Given the description of an element on the screen output the (x, y) to click on. 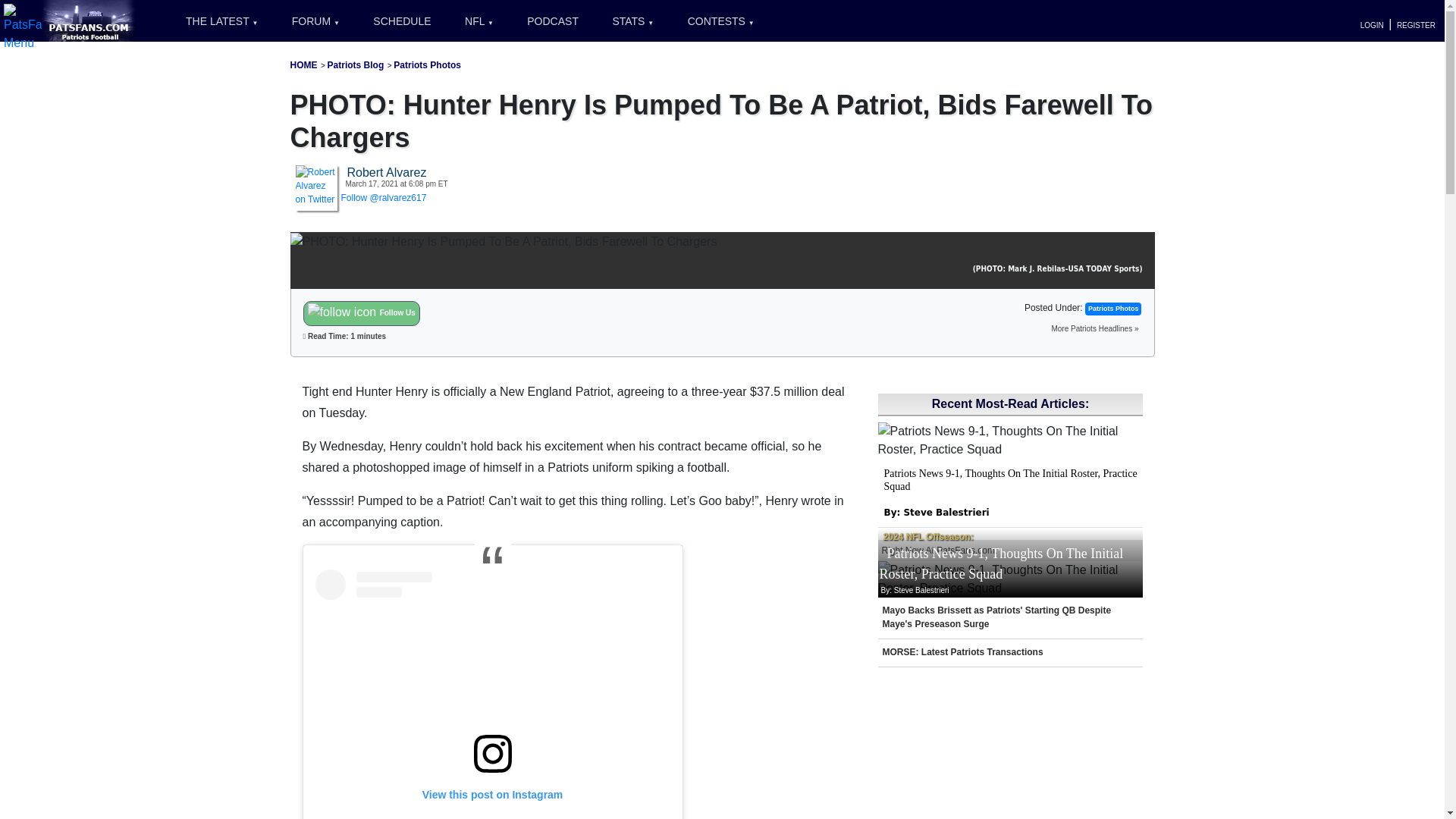
Patriots Blog (355, 64)
Patriots Photos (427, 64)
PODCAST (553, 21)
New England Patriots at PatsFans.com (303, 64)
PatsFans.com (89, 19)
SCHEDULE (401, 21)
Robert Alvarez on PatsFans.com (316, 185)
